Given the description of an element on the screen output the (x, y) to click on. 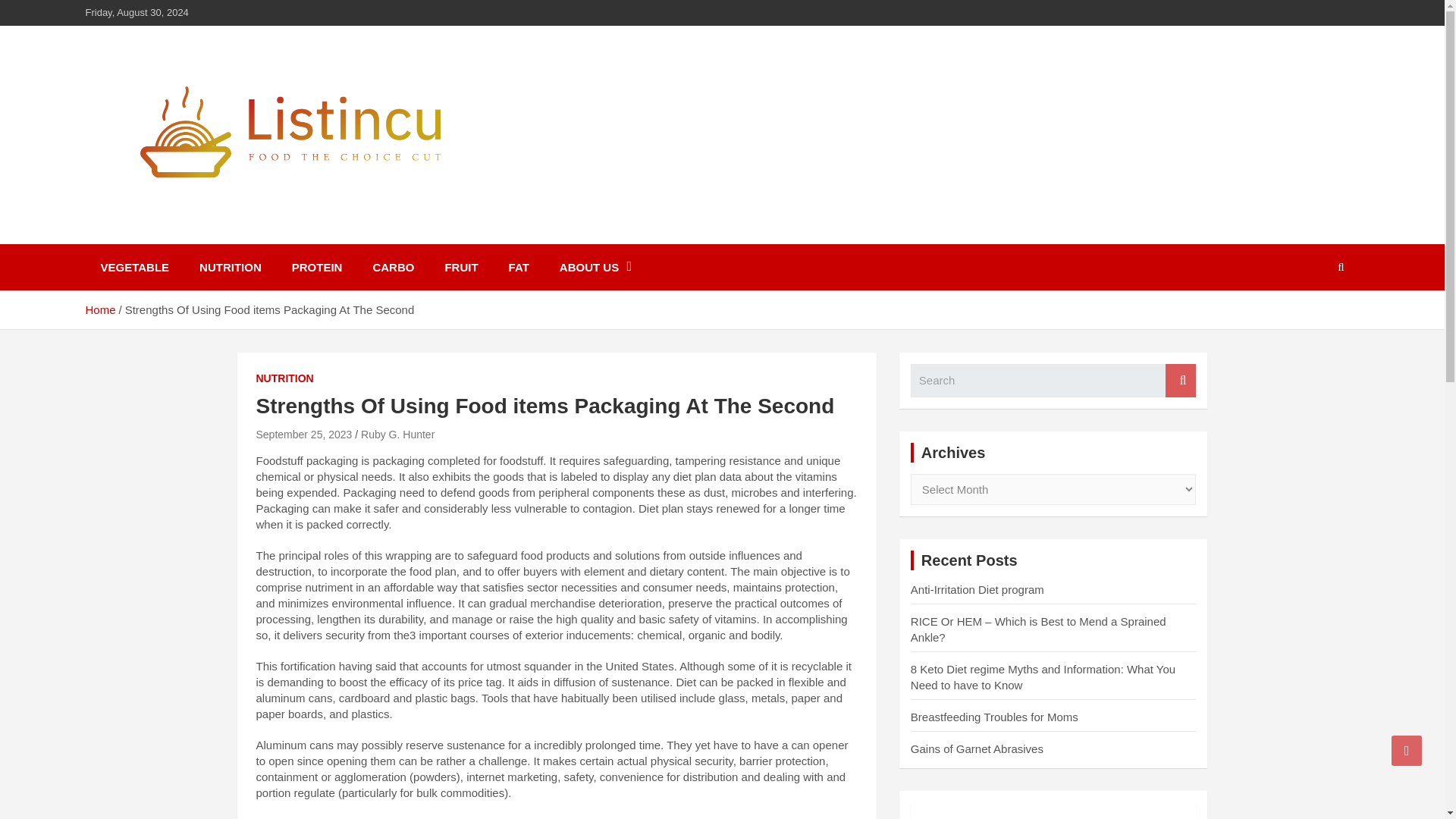
CARBO (392, 267)
Strengths Of Using Food items Packaging At The Second (304, 434)
Gains of Garnet Abrasives (977, 748)
FAT (518, 267)
Home (99, 309)
Ruby G. Hunter (397, 434)
ABOUT US (595, 267)
PROTEIN (317, 267)
Anti-Irritation Diet program (977, 589)
